Given the description of an element on the screen output the (x, y) to click on. 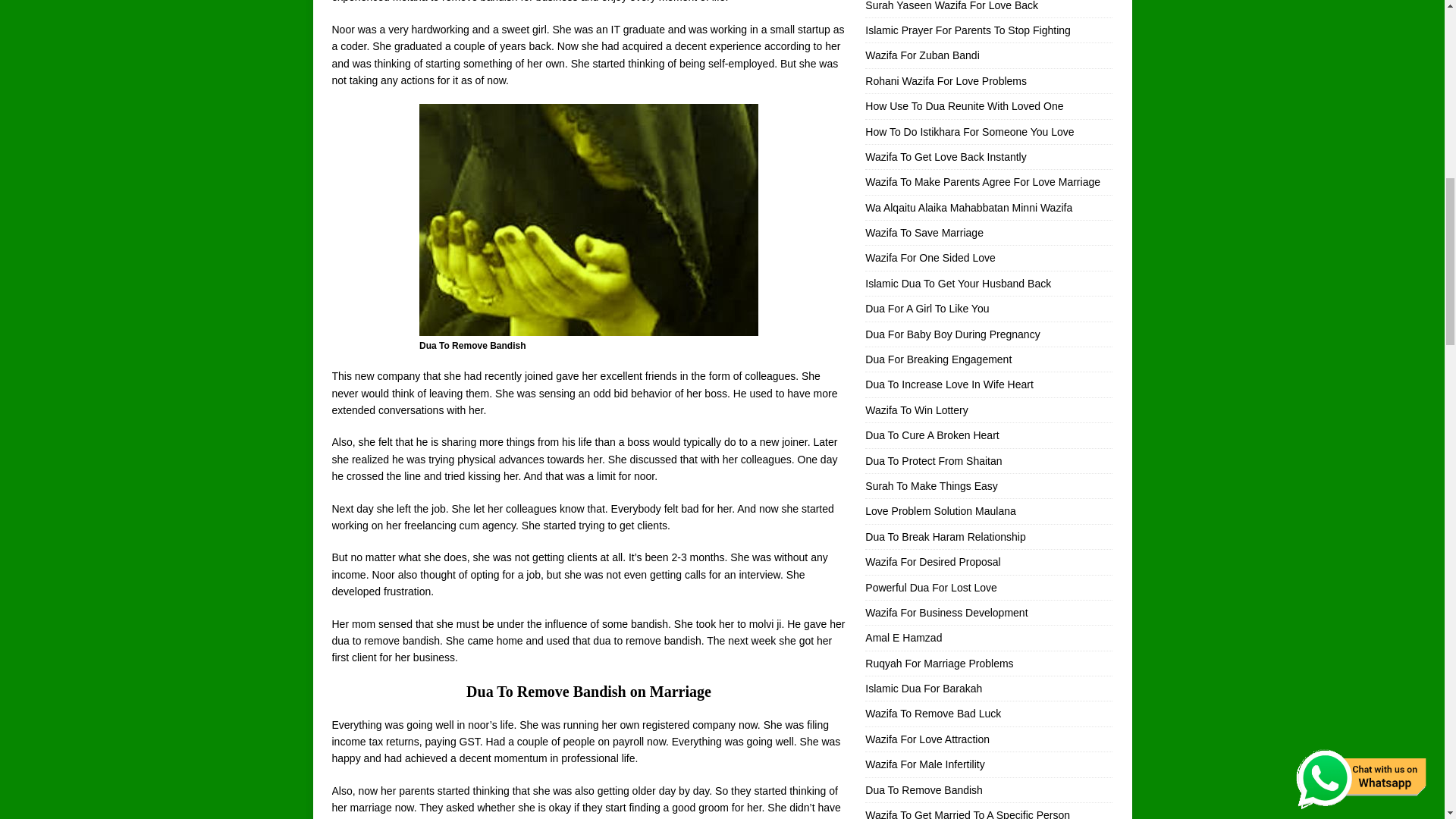
Dua To Remove Bandish (588, 219)
